Given the description of an element on the screen output the (x, y) to click on. 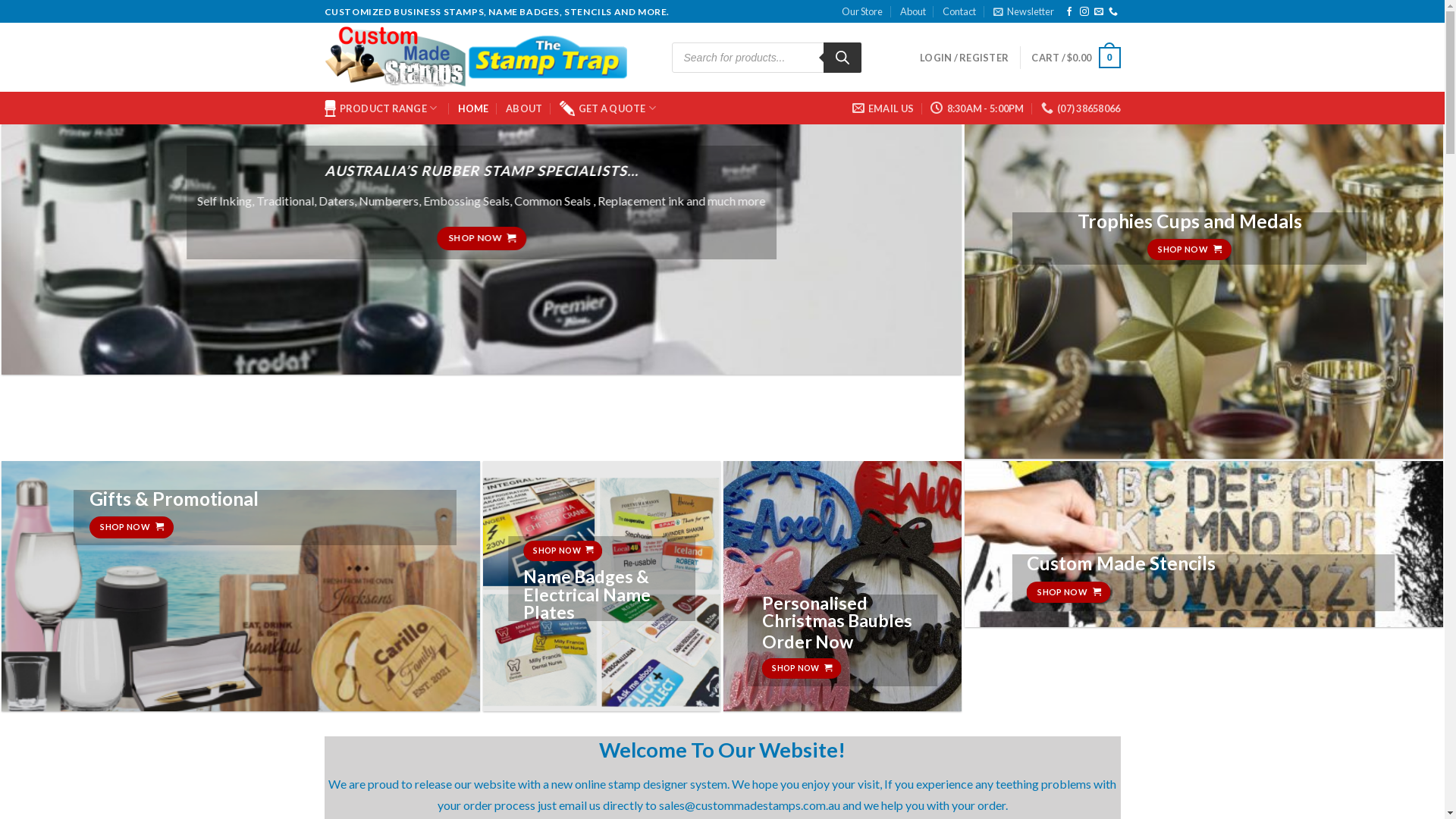
8:30AM - 5:00PM Element type: text (976, 108)
About Element type: text (912, 11)
GET A QUOTE Element type: text (609, 108)
Send us an email Element type: hover (1098, 11)
EMAIL US Element type: text (882, 108)
ABOUT Element type: text (523, 108)
SHOP NOW Element type: text (481, 237)
SHOP NOW Element type: text (131, 527)
PRODUCT RANGE Element type: text (382, 107)
Follow on Instagram Element type: hover (1083, 11)
HOME Element type: text (473, 108)
SHOP NOW Element type: text (801, 668)
SHOP NOW Element type: text (1068, 592)
Skip to content Element type: text (0, 0)
Follow on Facebook Element type: hover (1068, 11)
(07) 38658066 Element type: text (1080, 108)
SHOP NOW Element type: text (1189, 249)
CART / $0.00
0 Element type: text (1075, 57)
Contact Element type: text (958, 11)
Our Store Element type: text (861, 11)
LOGIN / REGISTER Element type: text (963, 57)
Custom Made Stamps - Custom Rubber Stamps & Accessories Element type: hover (486, 56)
Call us Element type: hover (1112, 11)
Newsletter Element type: text (1023, 11)
SHOP NOW Element type: text (562, 550)
